Given the description of an element on the screen output the (x, y) to click on. 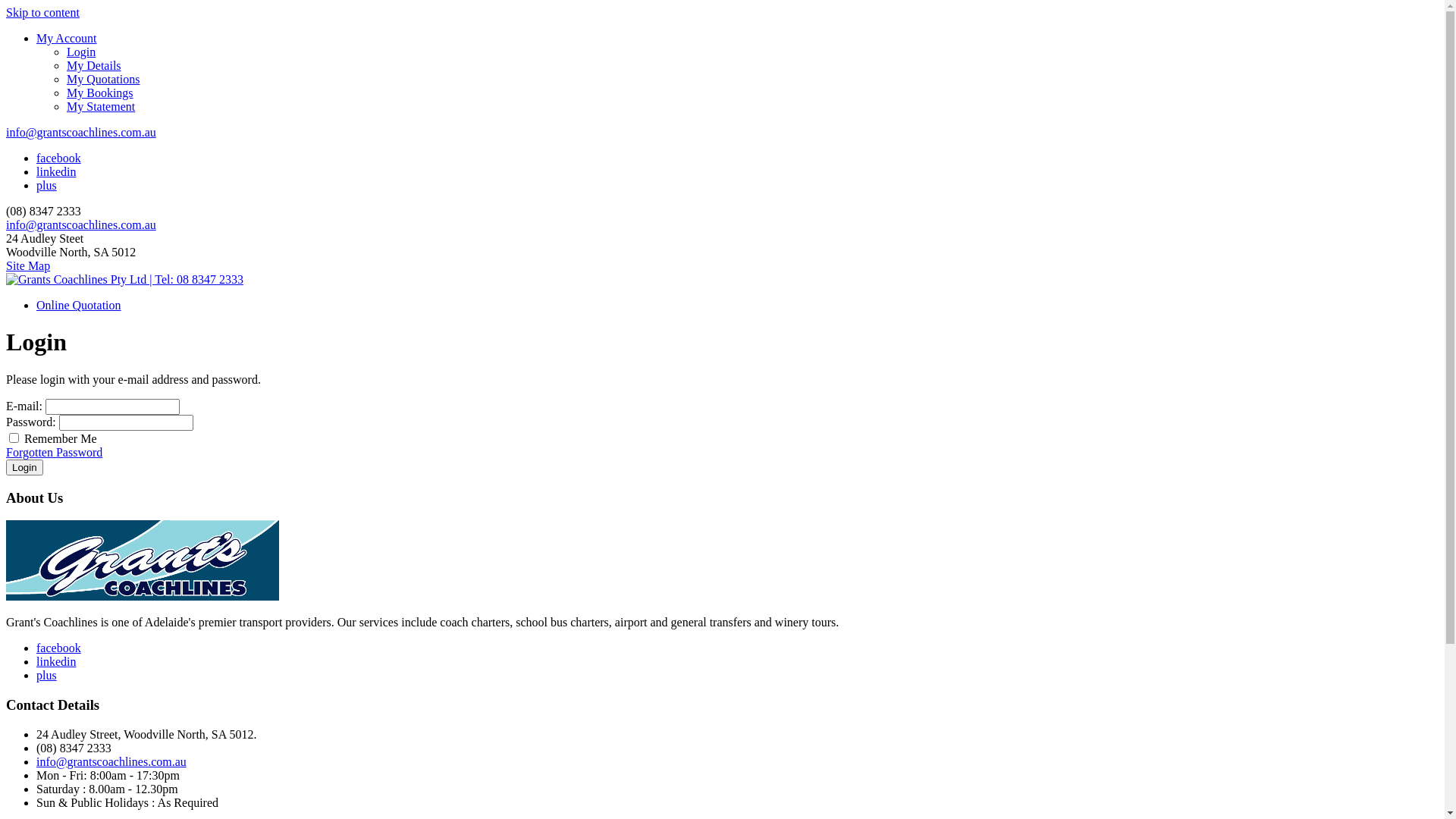
Skip to content Element type: text (42, 12)
facebook Element type: text (58, 157)
Online Quotation Element type: text (78, 304)
Site Map Element type: text (28, 265)
My Statement Element type: text (752, 106)
linkedin Element type: text (55, 171)
Grants Coachlines Pty Ltd | Tel: 08 8347 2333 Element type: hover (124, 279)
My Account Element type: text (66, 37)
plus Element type: text (46, 674)
My Details Element type: text (752, 65)
info@grantscoachlines.com.au Element type: text (111, 761)
My Bookings Element type: text (752, 93)
linkedin Element type: text (55, 661)
facebook Element type: text (58, 647)
info@grantscoachlines.com.au Element type: text (81, 224)
info@grantscoachlines.com.au Element type: text (81, 131)
Login Element type: text (24, 467)
plus Element type: text (46, 184)
Login Element type: text (752, 52)
My Quotations Element type: text (752, 79)
Forgotten Password Element type: text (54, 451)
